Given the description of an element on the screen output the (x, y) to click on. 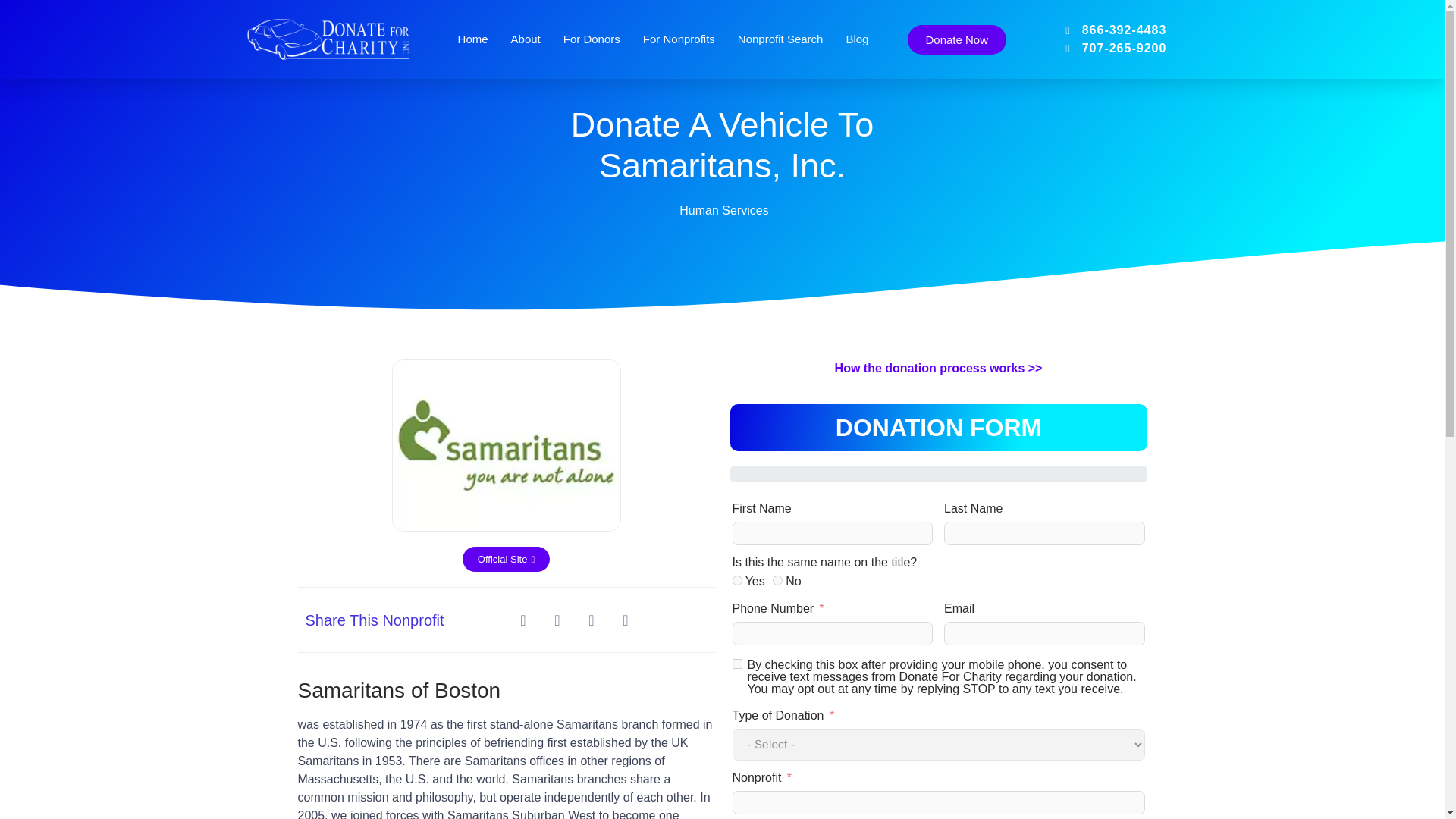
Nonprofit Search (781, 38)
on (737, 664)
866-392-4483 (1099, 30)
Human Services (723, 210)
For Nonprofits (678, 38)
Donate Now (956, 39)
707-265-9200 (1099, 48)
yes (737, 580)
Official Site (506, 559)
no (778, 580)
